Given the description of an element on the screen output the (x, y) to click on. 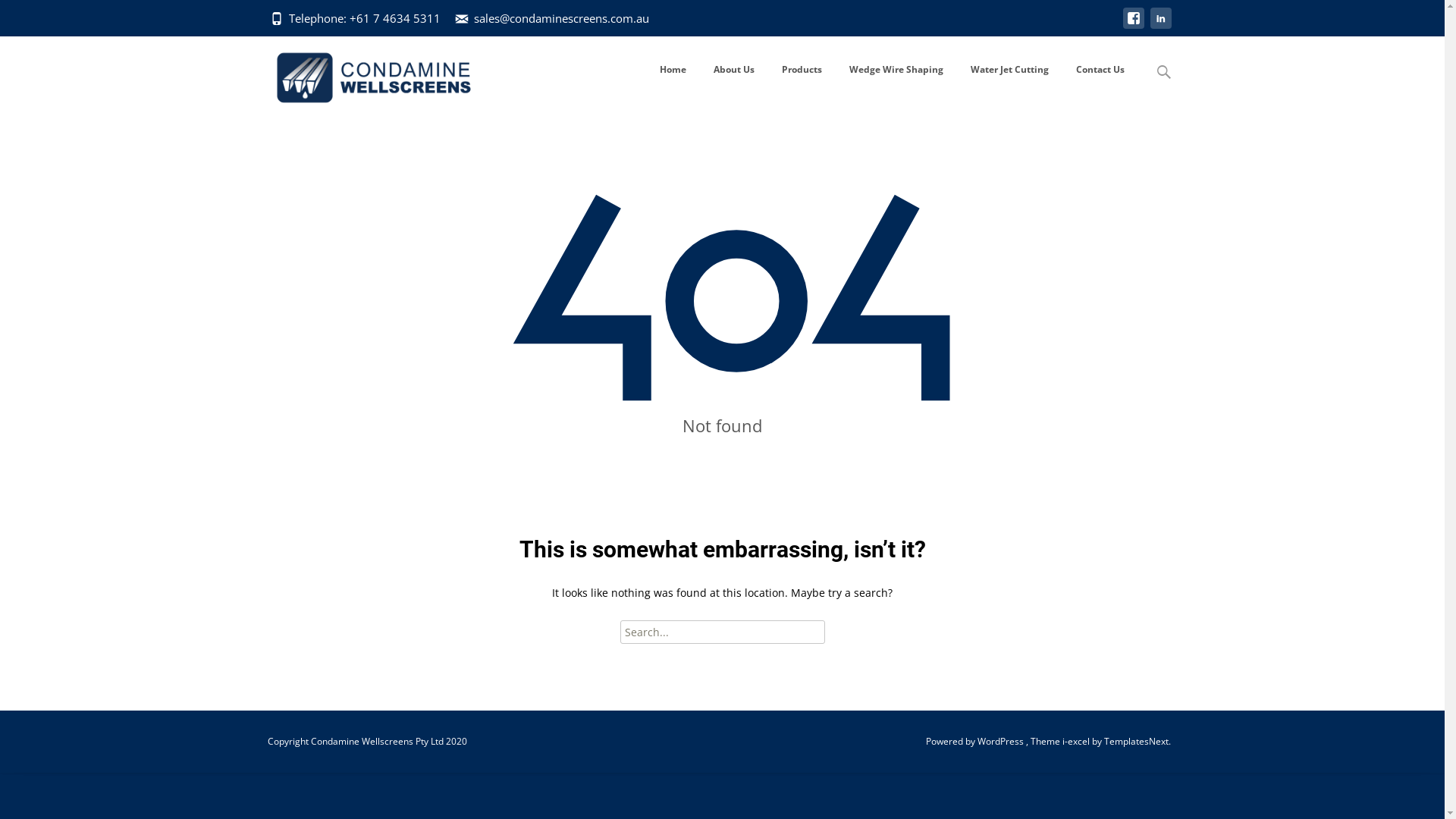
Search for: Element type: hover (722, 631)
Condamine Wellscreens Element type: hover (360, 73)
linkedin Element type: hover (1159, 25)
facebook Element type: hover (1132, 25)
Powered by WordPress Element type: text (975, 740)
Wedge Wire Shaping Element type: text (896, 69)
Search Element type: text (35, 15)
i-excel Element type: text (1076, 740)
Contact Us Element type: text (1099, 69)
Search for: Element type: hover (1163, 72)
Products Element type: text (800, 69)
Skip to content Element type: text (646, 35)
Water Jet Cutting Element type: text (1009, 69)
About Us Element type: text (732, 69)
Home Element type: text (672, 69)
Search Element type: text (18, 15)
